Given the description of an element on the screen output the (x, y) to click on. 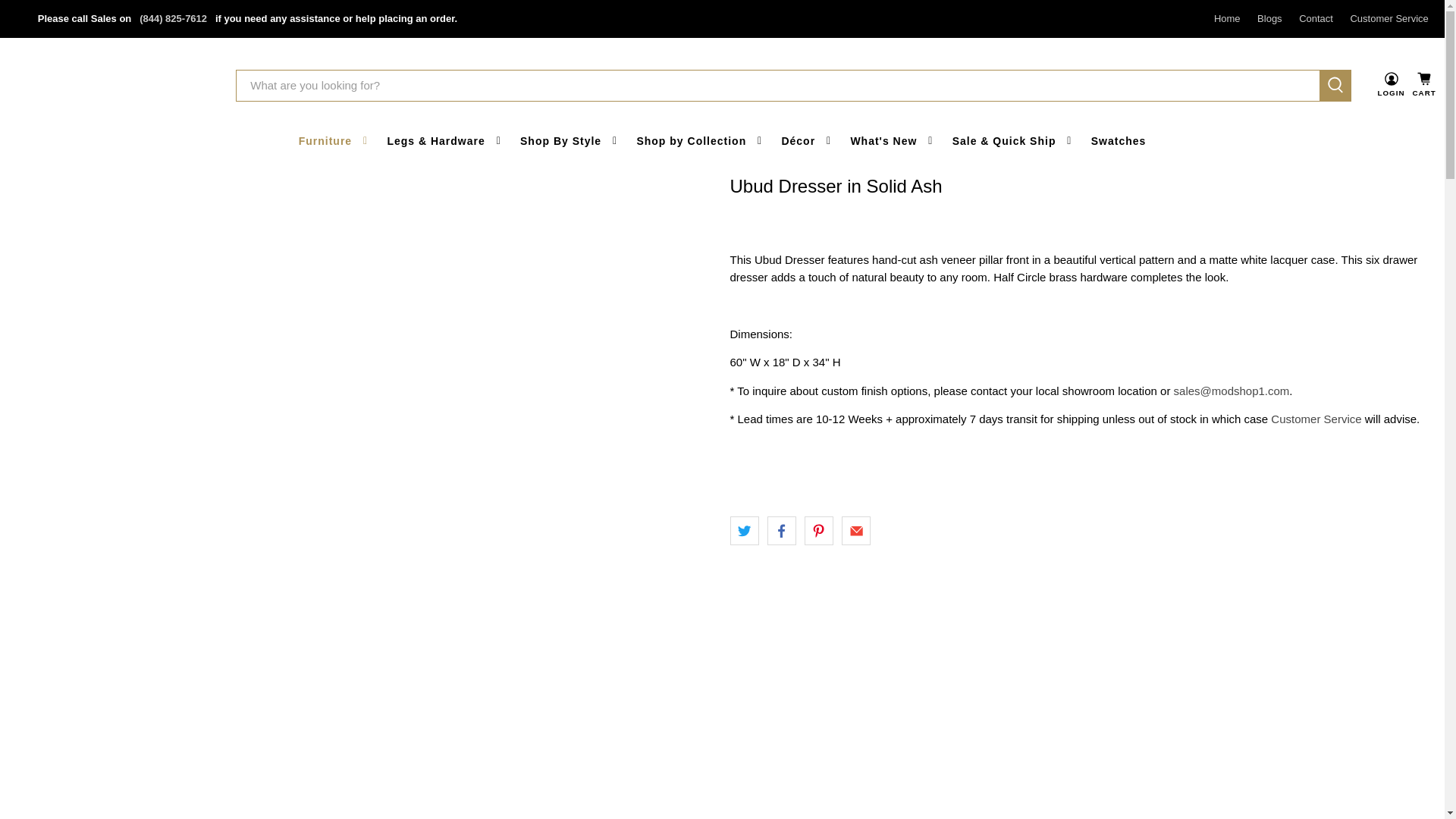
Furniture (333, 141)
Customer Service (1316, 418)
Shop By Style (569, 141)
Contact (1315, 18)
Home (1227, 18)
Share this on Twitter (743, 530)
Share this on Facebook (781, 530)
Email this to a friend (855, 530)
Share this on Pinterest (818, 530)
Customer Service (1388, 18)
